Given the description of an element on the screen output the (x, y) to click on. 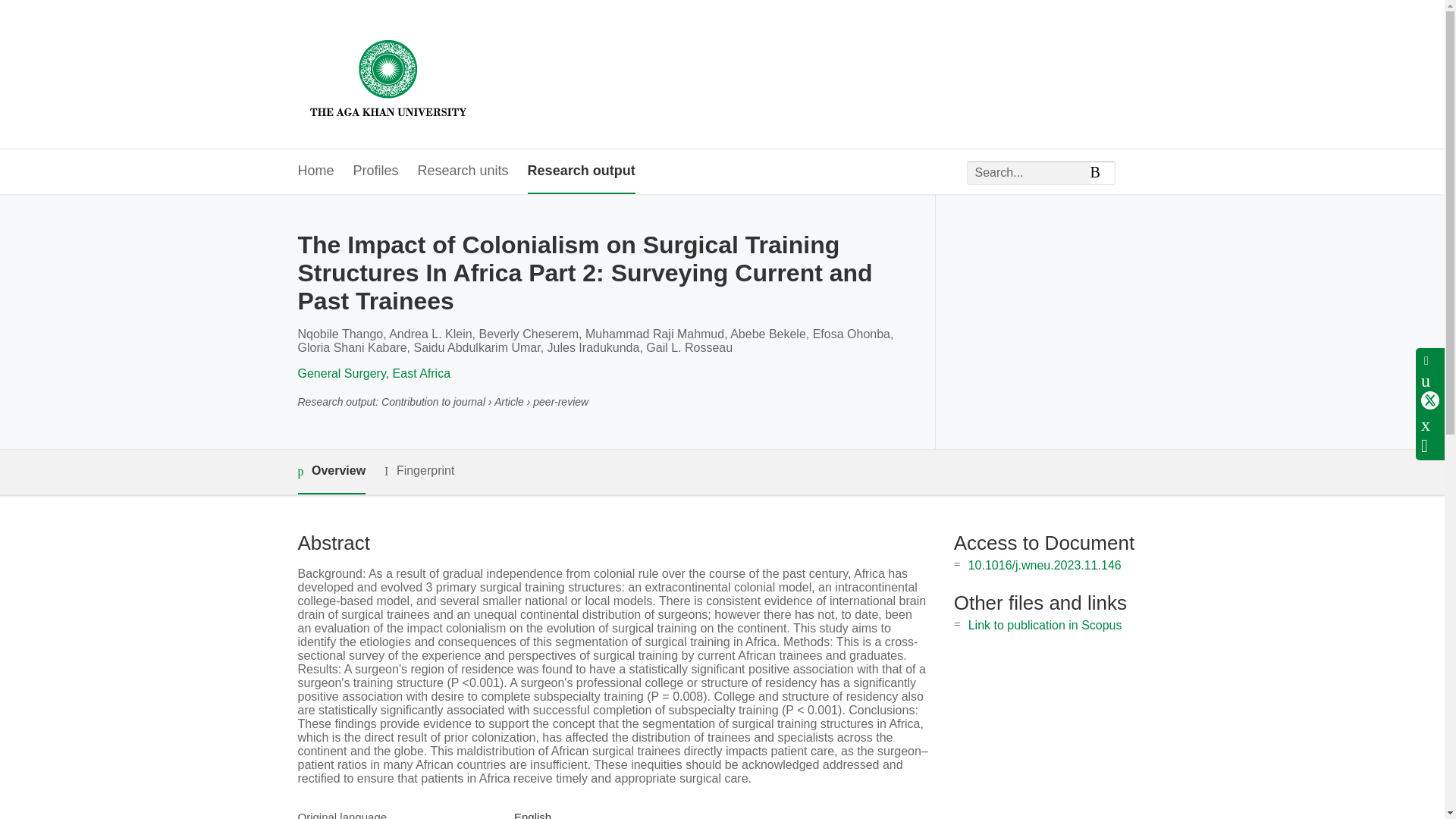
Profiles (375, 171)
Research output (580, 171)
The Aga Khan University Home (388, 74)
Link to publication in Scopus (1045, 625)
General Surgery, East Africa (373, 373)
Research units (462, 171)
Fingerprint (419, 471)
Overview (331, 471)
